Given the description of an element on the screen output the (x, y) to click on. 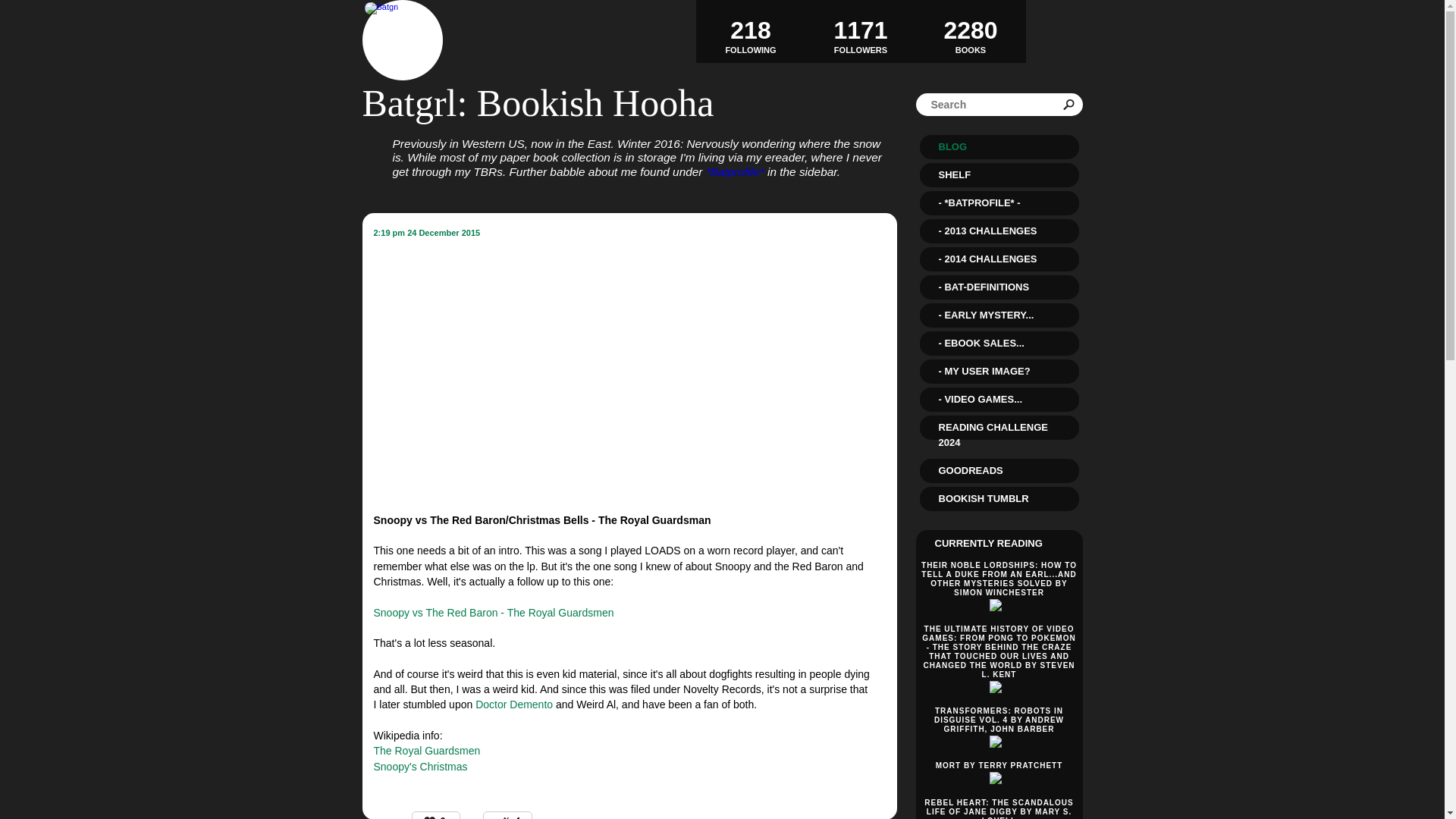
BOOKISH TUMBLR (998, 498)
CURRENTLY READING (988, 542)
Doctor Demento (514, 704)
Batgrl: Bookish Hooha (538, 102)
- VIDEO GAMES... (998, 399)
2:19 pm 24 December 2015 (859, 31)
- EBOOK SALES... (750, 31)
- 2014 CHALLENGES (426, 232)
Snoopy vs The Red Baron - The Royal Guardsmen (998, 343)
- BAT-DEFINITIONS (998, 259)
Snoopy's Christmas (492, 612)
The Royal Guardsmen (970, 30)
